Given the description of an element on the screen output the (x, y) to click on. 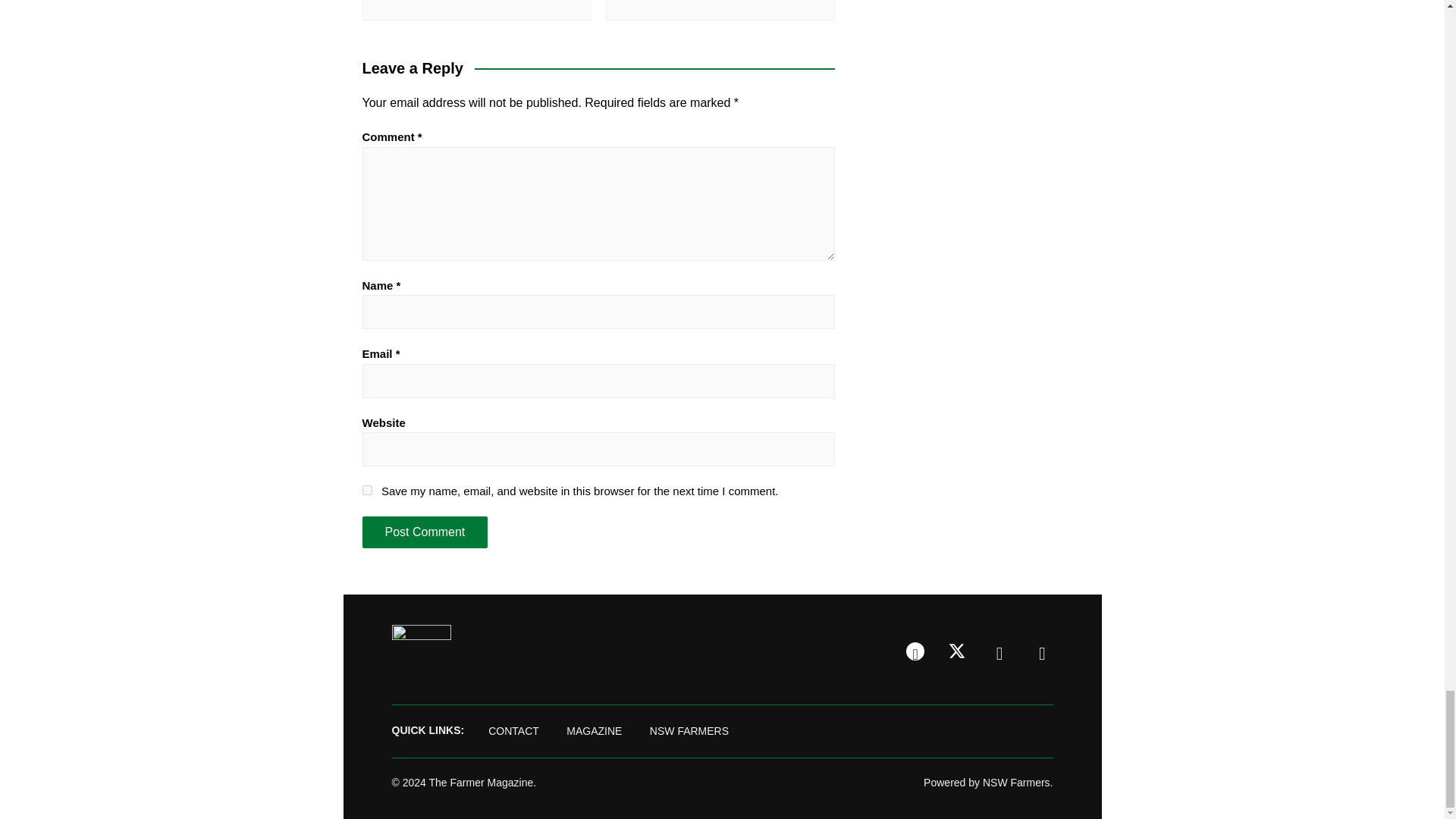
Join Now (420, 646)
Post Comment (424, 531)
yes (367, 490)
